Given the description of an element on the screen output the (x, y) to click on. 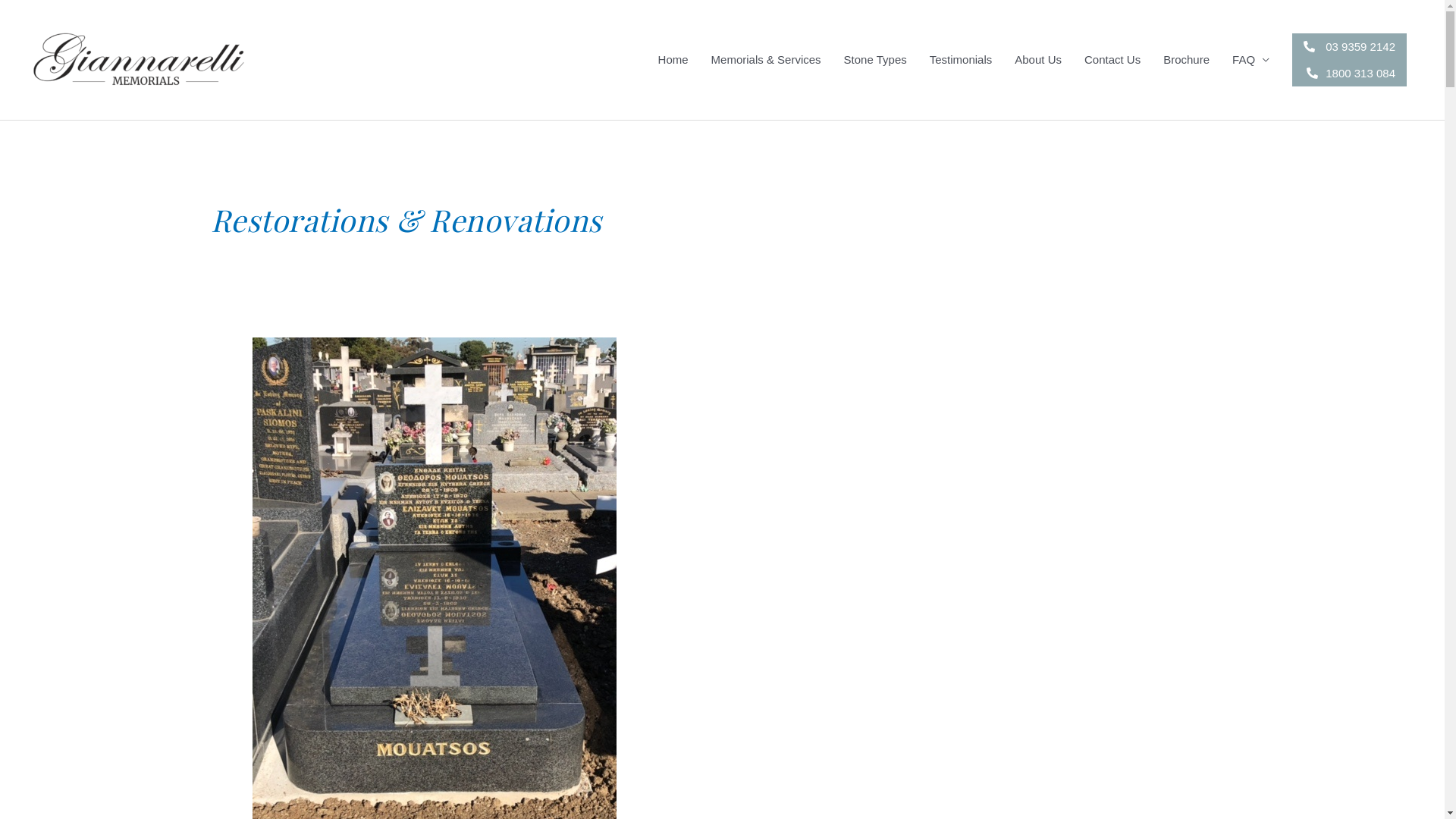
Memorials & Services Element type: text (765, 59)
Home Element type: text (672, 59)
Testimonials Element type: text (961, 59)
1800 313 084 Element type: text (1349, 72)
FAQ Element type: text (1250, 59)
About Us Element type: text (1038, 59)
03 9359 2142 Element type: text (1349, 46)
Stone Types Element type: text (875, 59)
Contact Us Element type: text (1112, 59)
Brochure Element type: text (1185, 59)
